Given the description of an element on the screen output the (x, y) to click on. 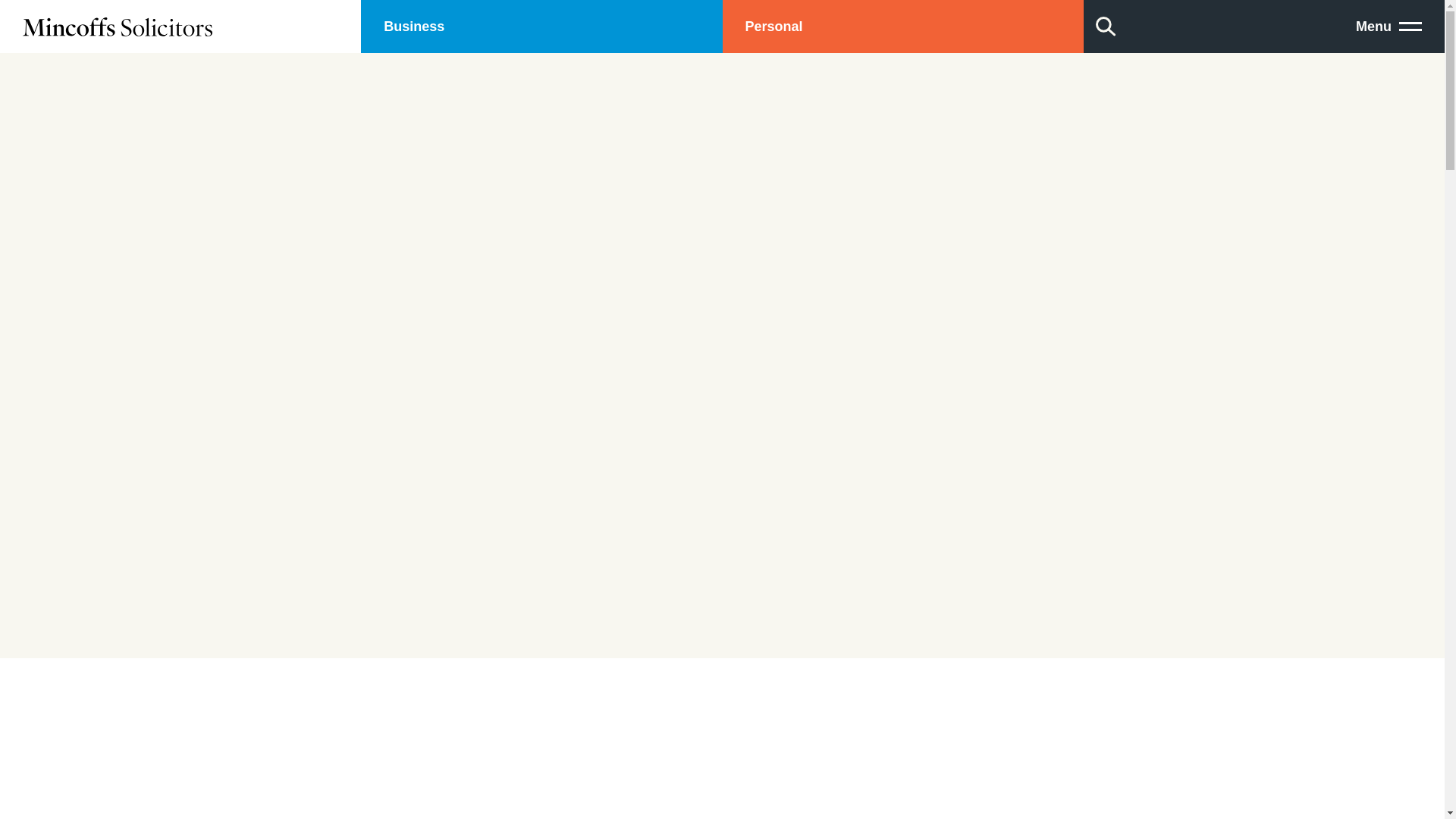
Discover more about our Personal offerings (902, 26)
Business (541, 26)
Personal (902, 26)
Discover more about our Business offerings (541, 26)
Return to the Mincoffs Solicitors homepage (180, 26)
